Given the description of an element on the screen output the (x, y) to click on. 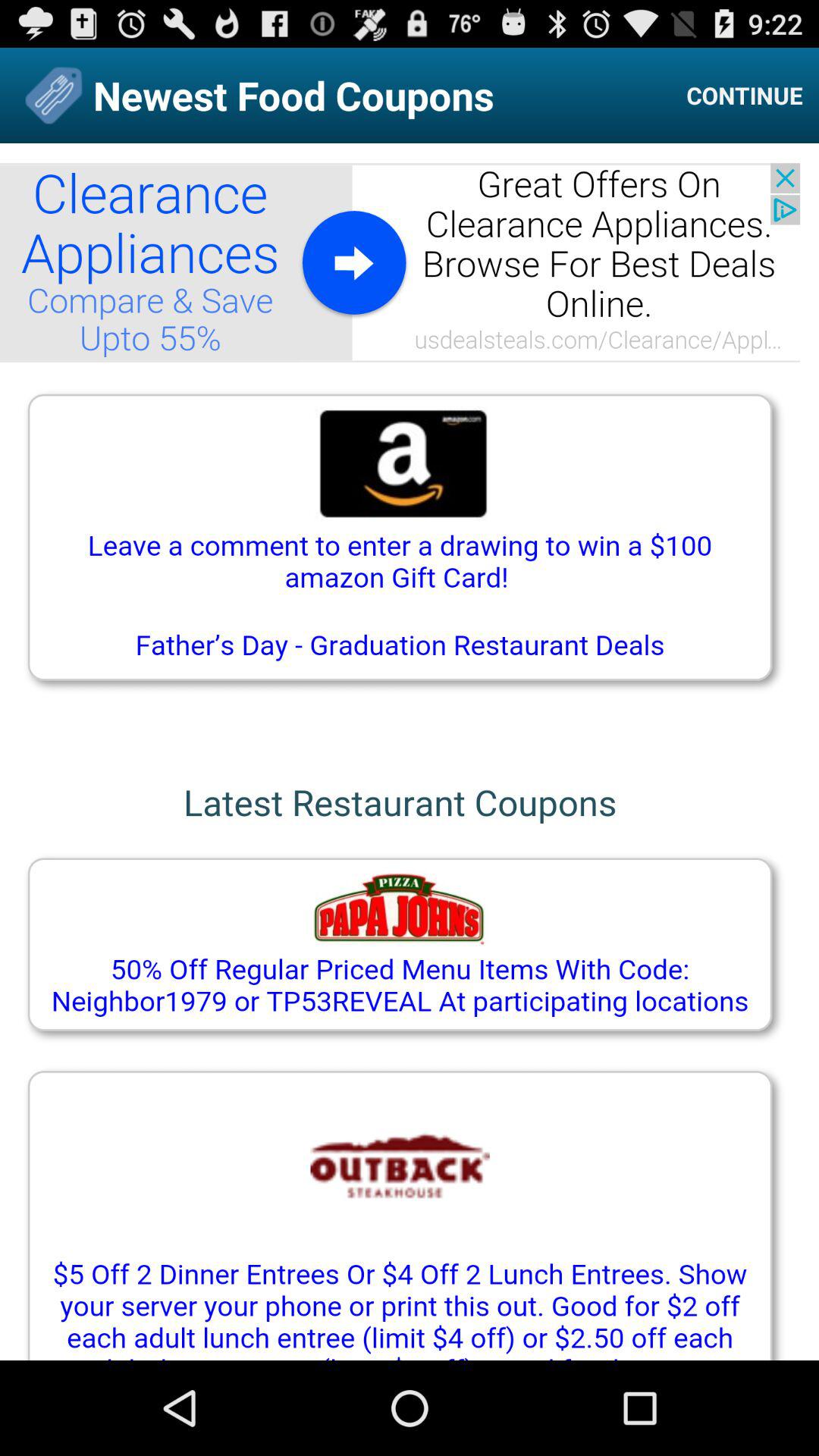
screen page (409, 751)
